Given the description of an element on the screen output the (x, y) to click on. 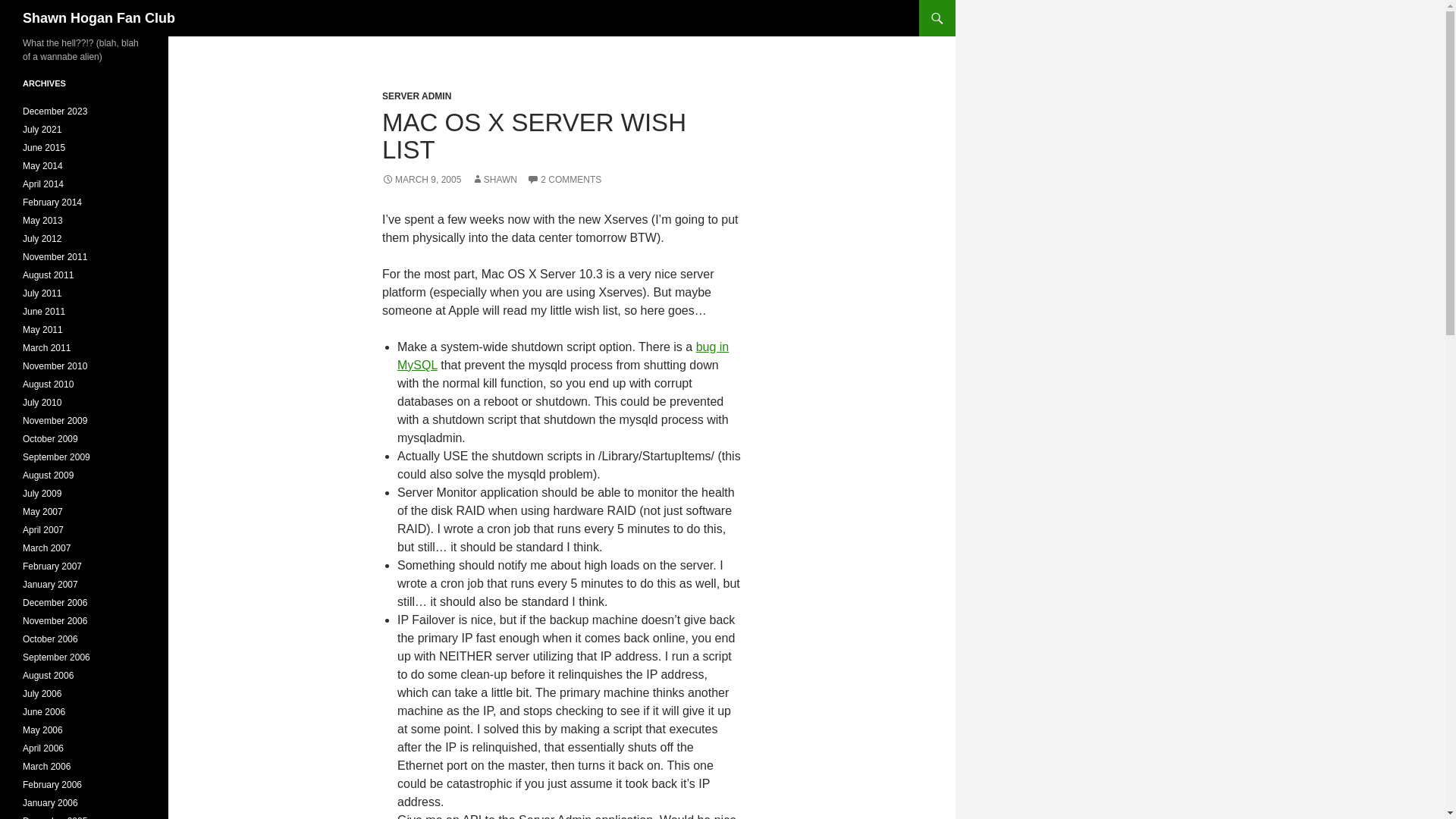
bug in MySQL (563, 355)
July 2011 (42, 293)
December 2023 (55, 111)
April 2014 (43, 184)
November 2011 (55, 256)
SHAWN (493, 179)
SERVER ADMIN (416, 95)
August 2009 (48, 475)
May 2011 (42, 329)
July 2021 (42, 129)
